Given the description of an element on the screen output the (x, y) to click on. 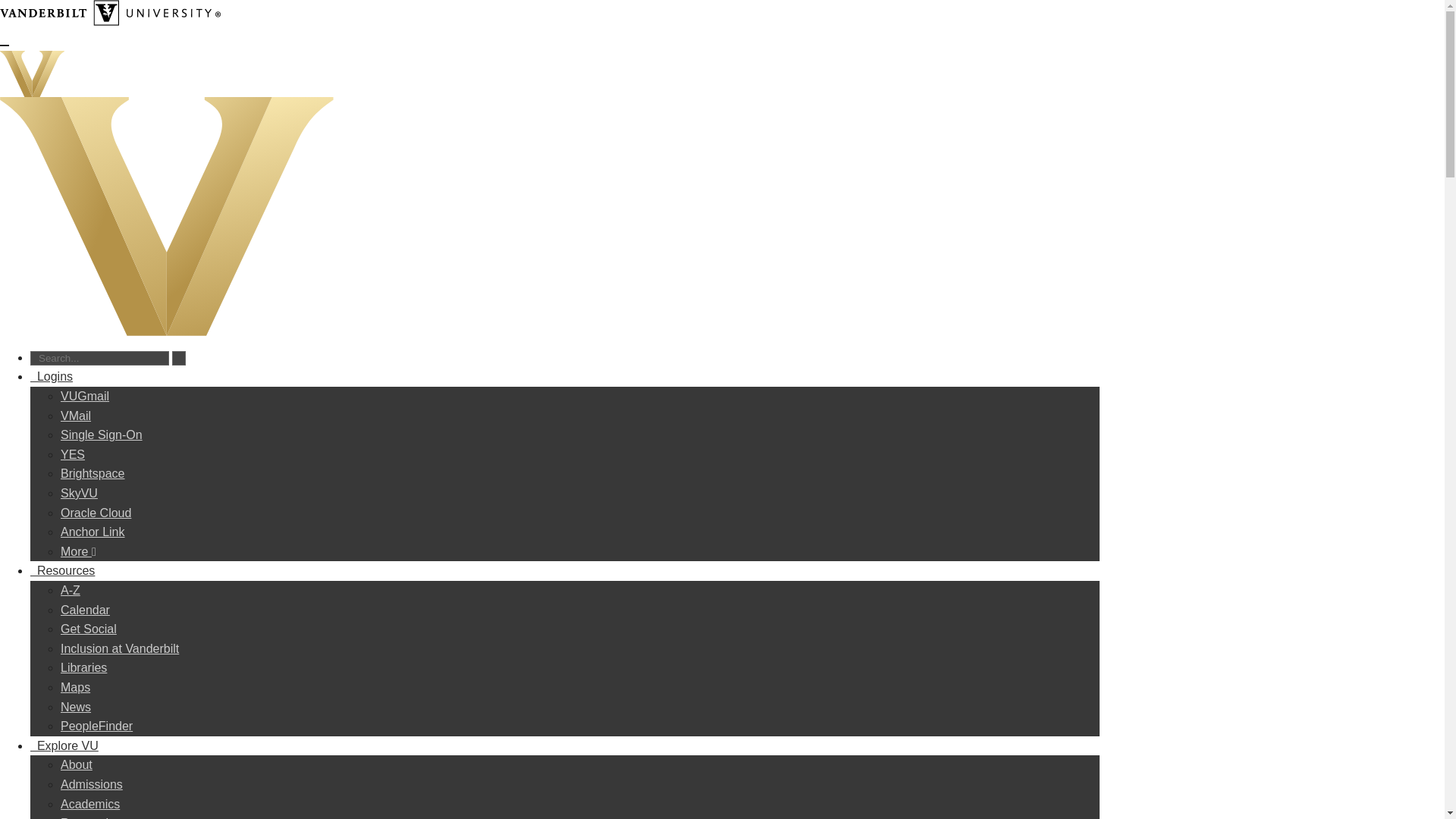
SkyVU (79, 492)
More (78, 551)
Research (86, 817)
  Logins (51, 376)
Inclusion at Vanderbilt (120, 648)
VUGmail (85, 395)
Oracle Cloud (96, 512)
Brightspace (93, 472)
  Explore VU (64, 745)
Get Social (88, 628)
Anchor Link (93, 531)
Calendar (85, 609)
Maps (75, 686)
